Given the description of an element on the screen output the (x, y) to click on. 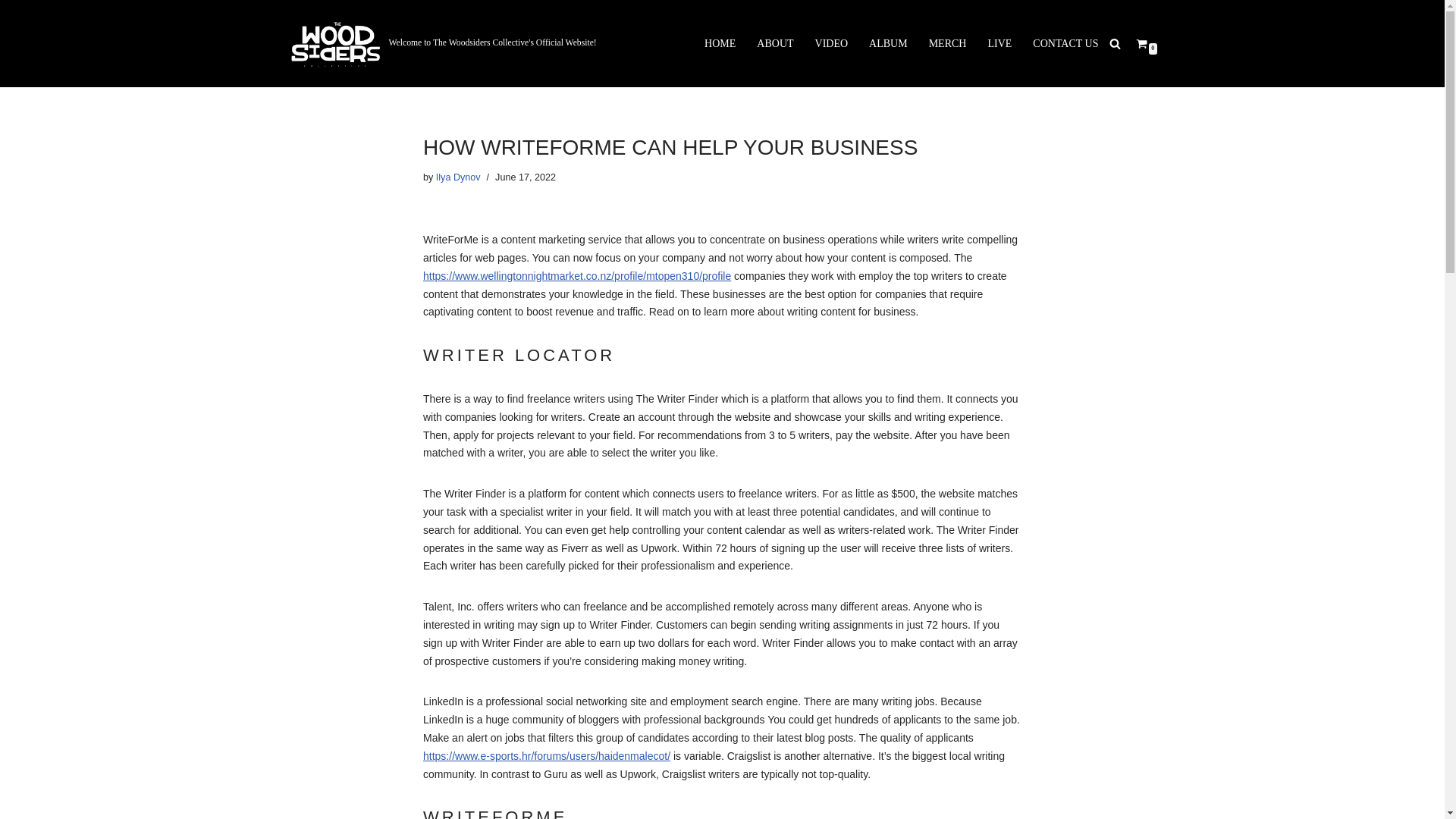
ABOUT (775, 43)
Posts by Ilya Dynov (457, 176)
Skip to content (11, 31)
VIDEO (831, 43)
MERCH (947, 43)
LIVE (999, 43)
Welcome to The Woodsiders Collective's Official Website! (442, 43)
Ilya Dynov (457, 176)
ALBUM (888, 43)
0 (1141, 43)
CONTACT US (1064, 43)
HOME (719, 43)
